Given the description of an element on the screen output the (x, y) to click on. 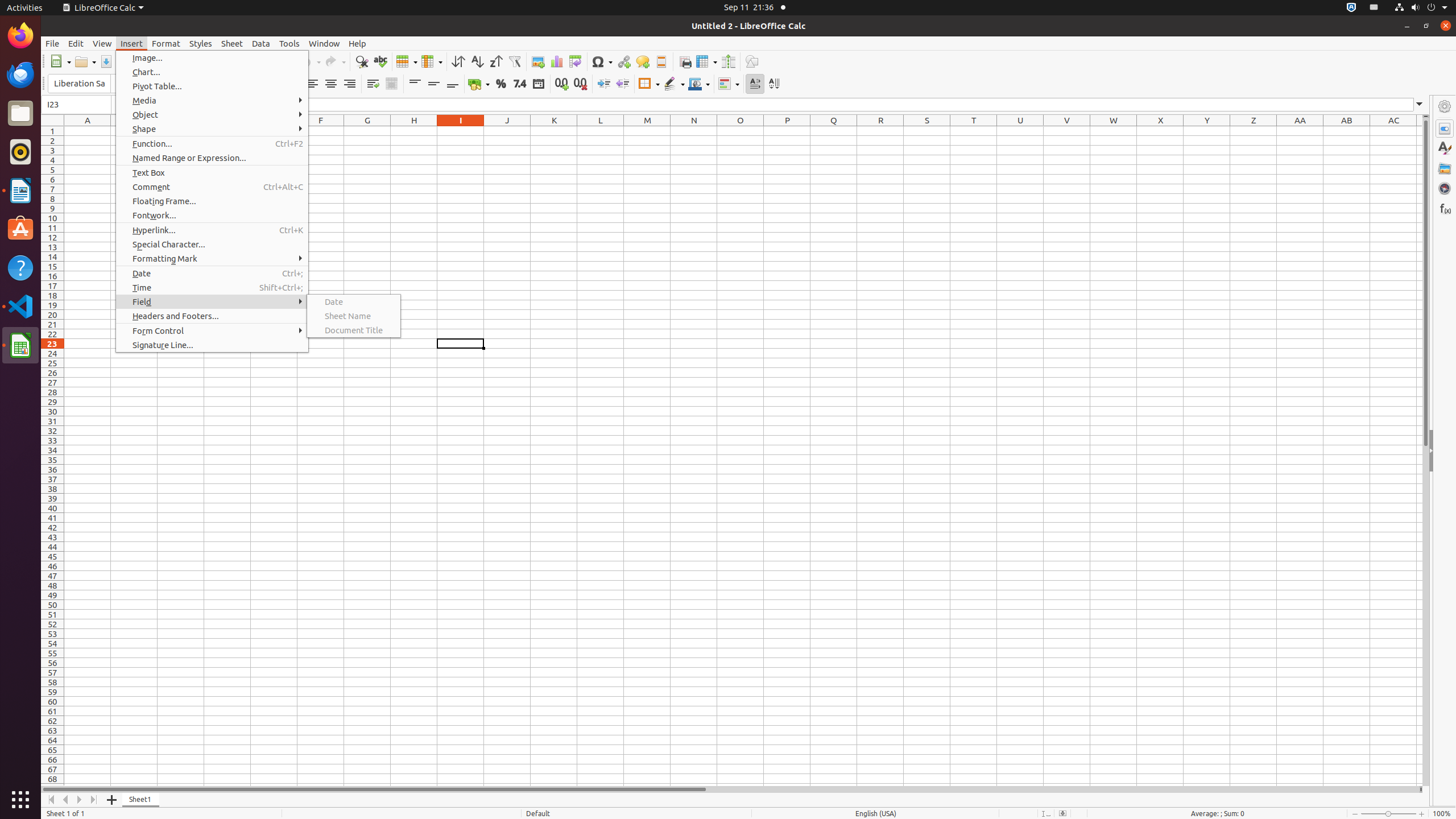
Move Right Element type: push-button (79, 799)
Text direction from top to bottom Element type: toggle-button (773, 83)
Named Range or Expression... Element type: menu-item (212, 157)
N1 Element type: table-cell (693, 130)
Border Style Element type: push-button (673, 83)
